Given the description of an element on the screen output the (x, y) to click on. 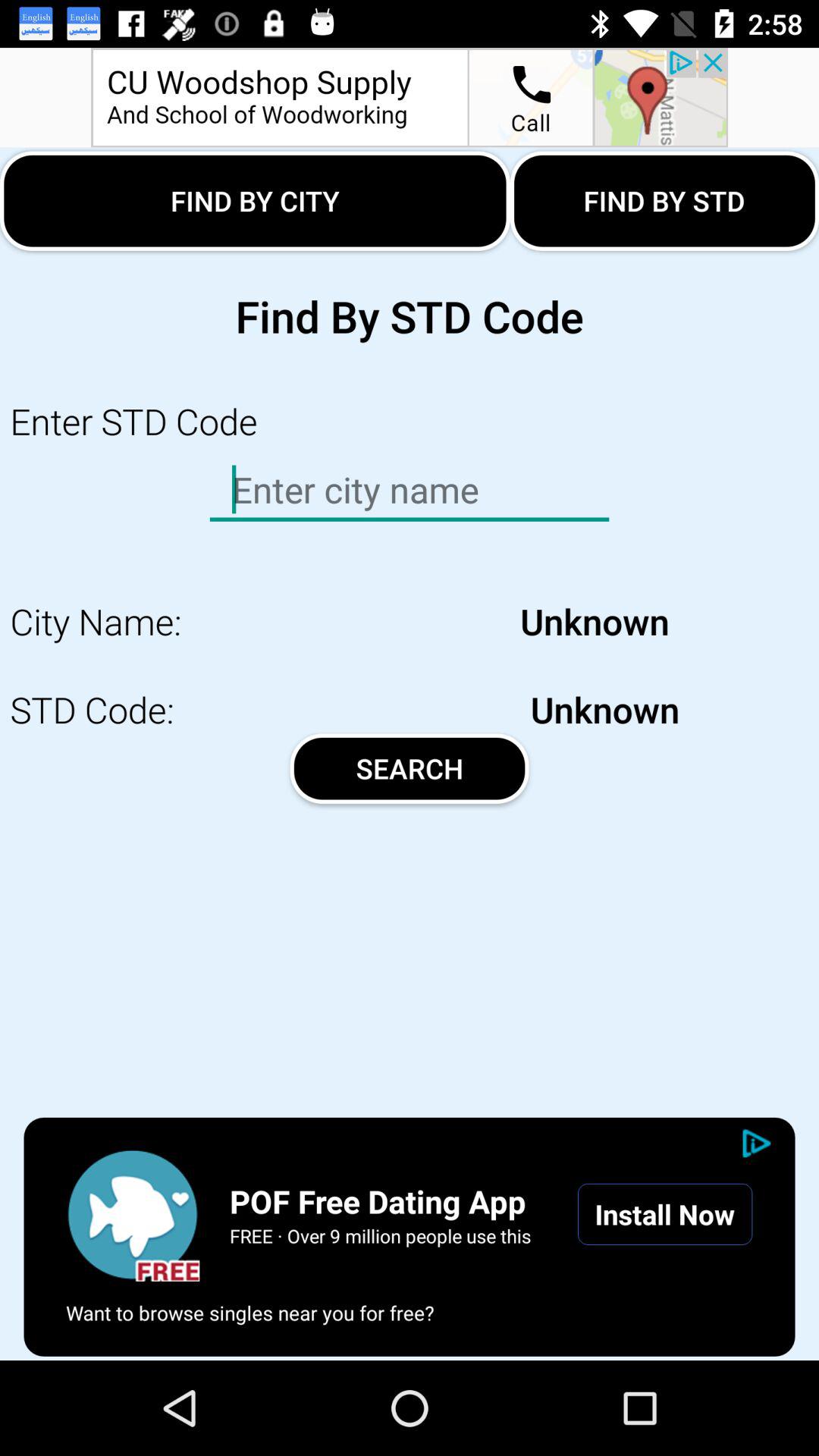
select the enter option (409, 490)
